Given the description of an element on the screen output the (x, y) to click on. 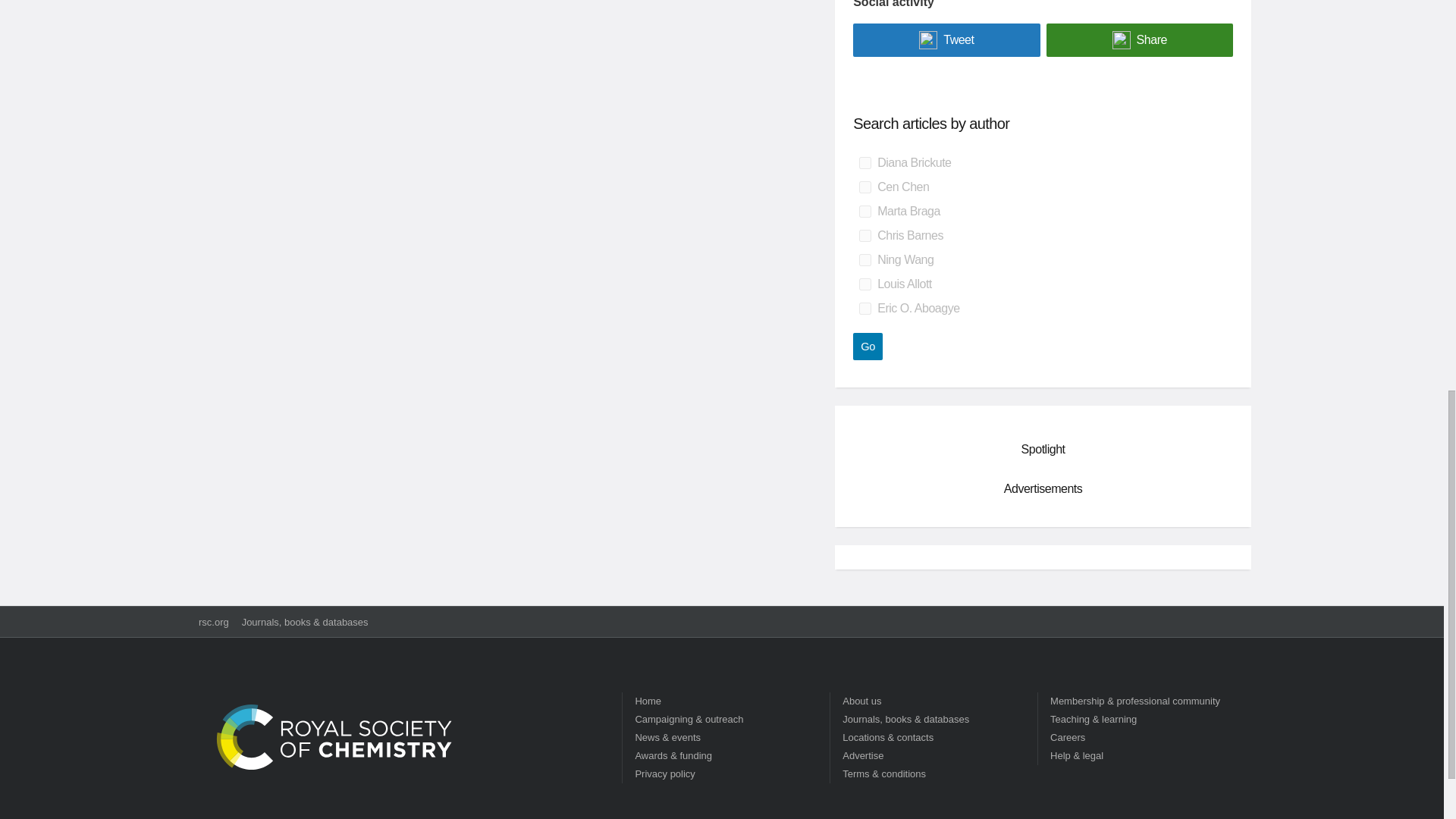
on (864, 211)
on (864, 284)
on (864, 235)
Go (867, 346)
on (864, 259)
Go (867, 346)
on (864, 186)
on (864, 162)
on (864, 308)
